Given the description of an element on the screen output the (x, y) to click on. 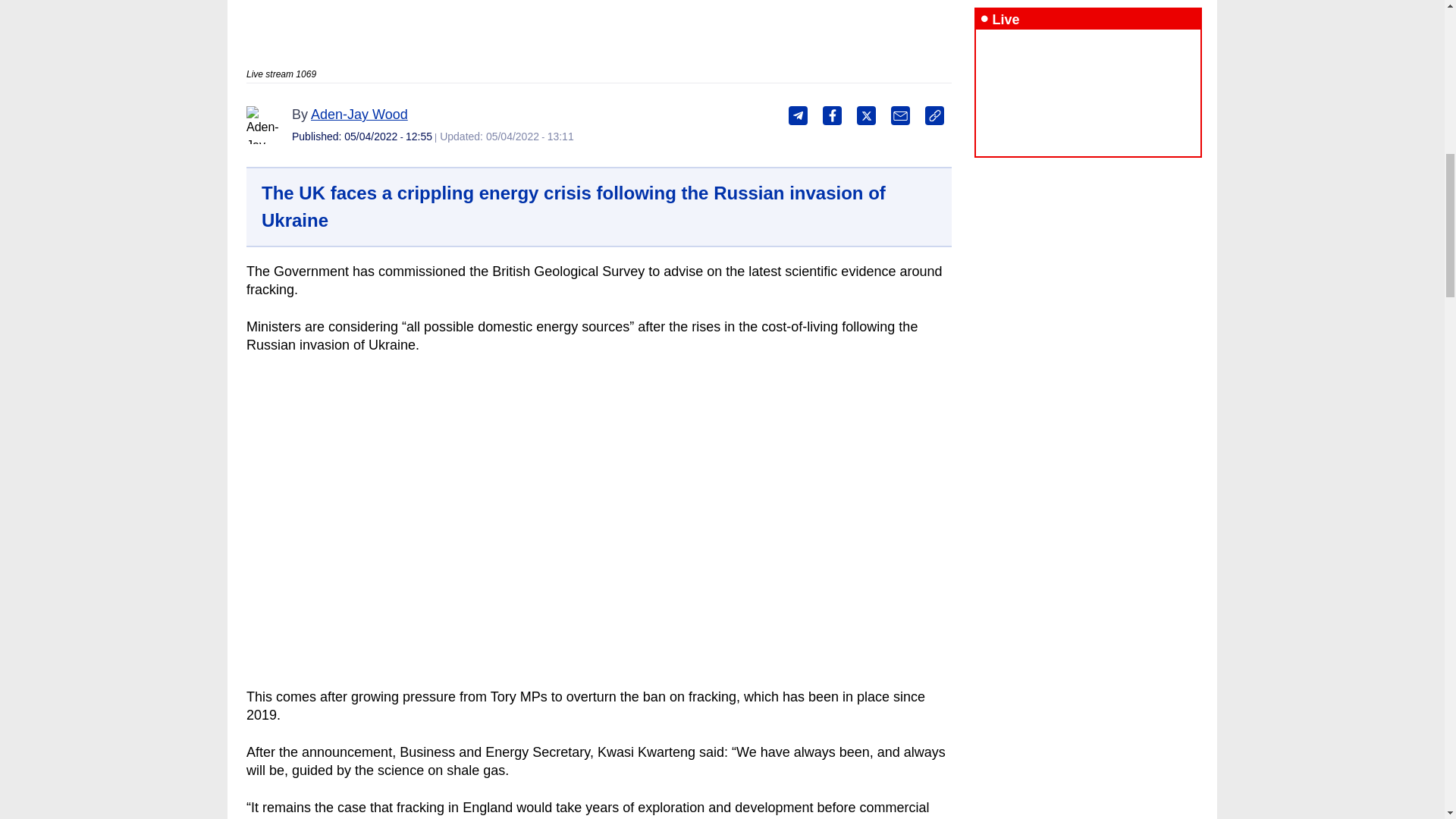
Aden-Jay Wood (359, 114)
Copy this link to clipboard (933, 115)
Aden-Jay Wood (264, 125)
